Given the description of an element on the screen output the (x, y) to click on. 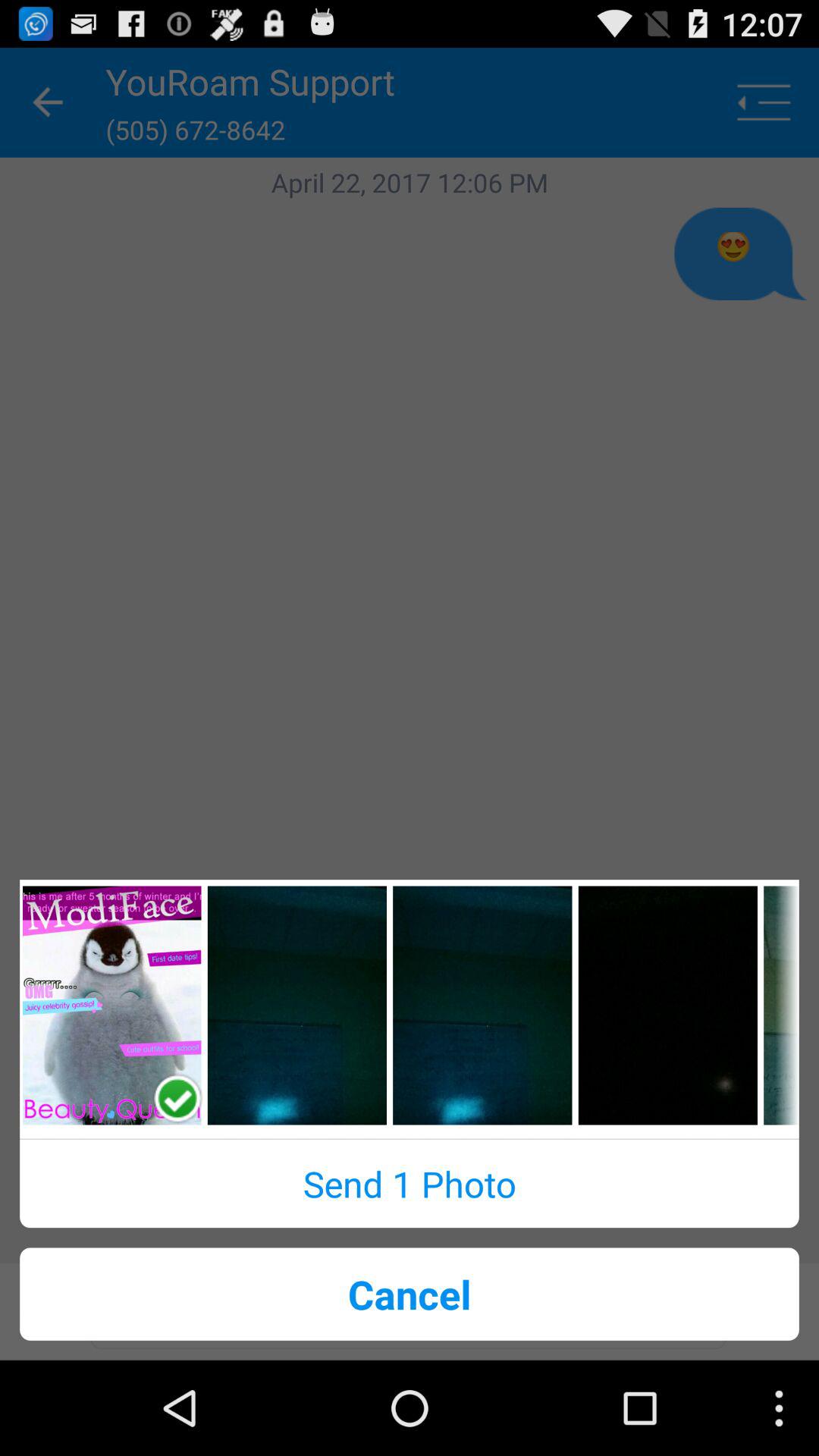
selection image (482, 1005)
